Given the description of an element on the screen output the (x, y) to click on. 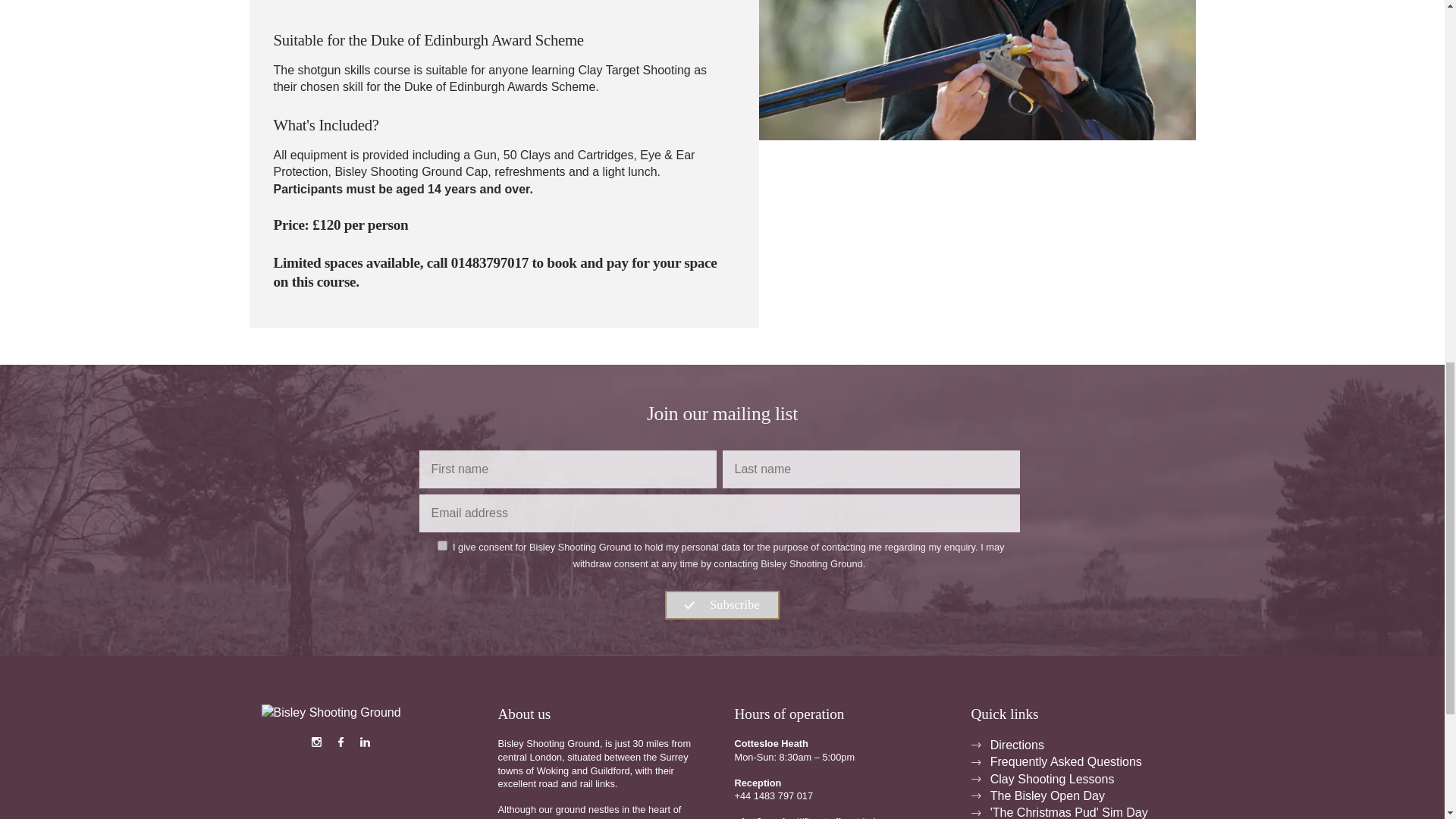
Follow us on Facebook (340, 742)
Follow us on Instagram (316, 742)
true (442, 545)
Connect with us on LinkedIn (365, 742)
